Given the description of an element on the screen output the (x, y) to click on. 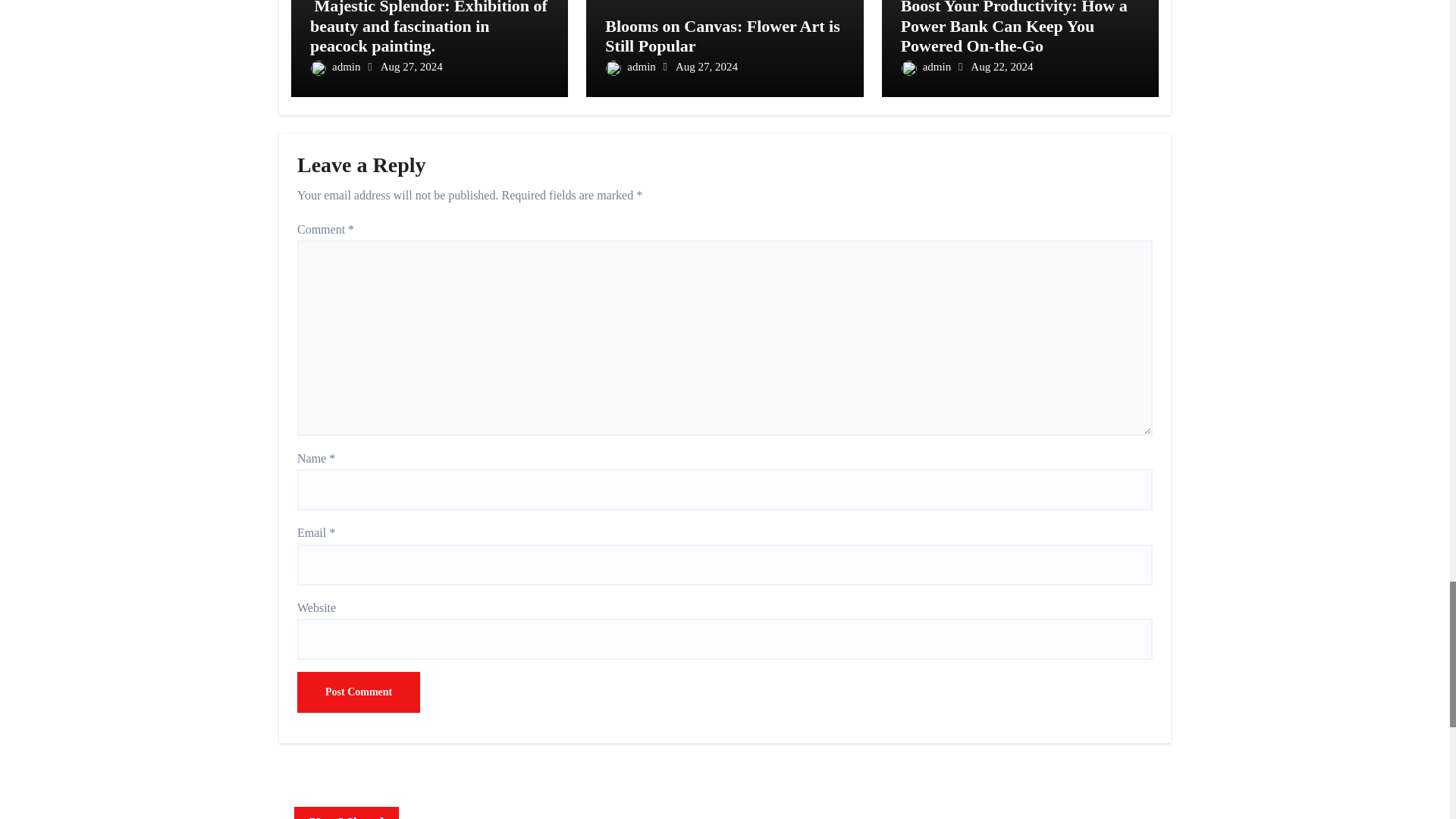
Post Comment (358, 691)
Permalink to: Blooms on Canvas: Flower Art is Still Popular (722, 35)
